Given the description of an element on the screen output the (x, y) to click on. 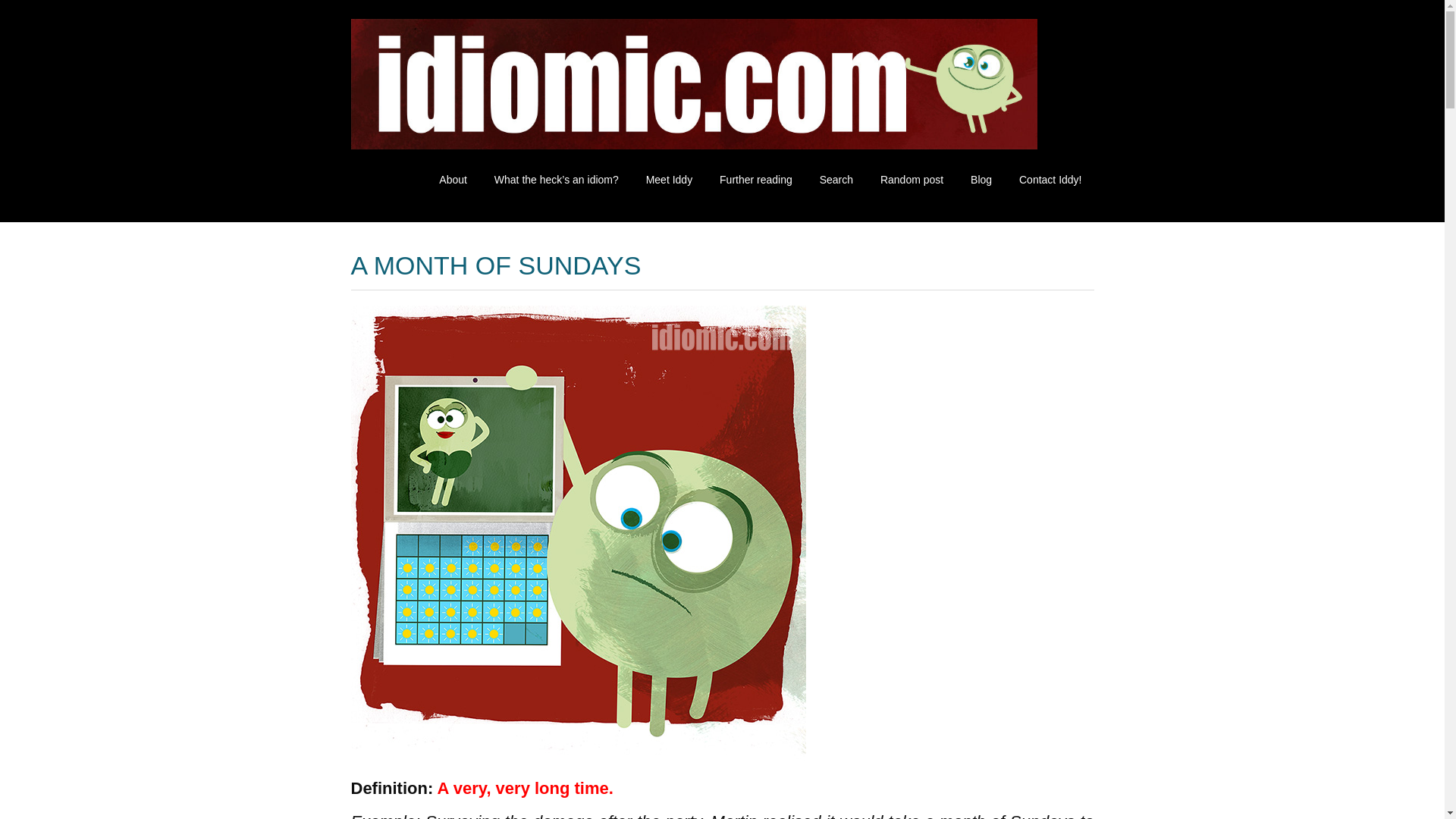
Search (835, 179)
Skip to content (438, 172)
Contact Iddy! (1050, 179)
Blog (980, 179)
About (452, 179)
Random post (911, 179)
Further reading (756, 179)
Meet Iddy (669, 179)
A MONTH OF SUNDAYS (495, 265)
